Given the description of an element on the screen output the (x, y) to click on. 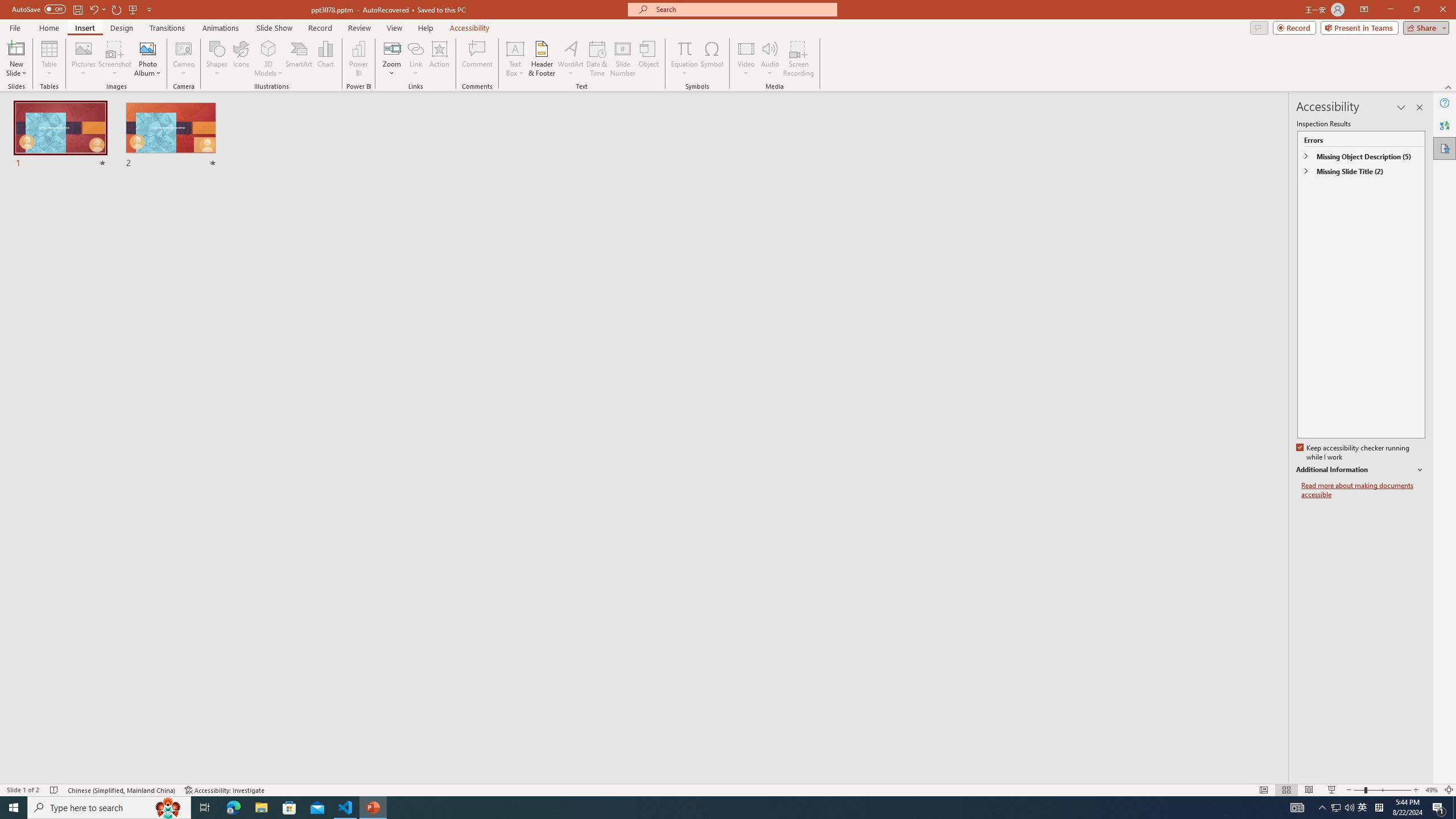
Link (415, 58)
Object... (649, 58)
Symbol... (711, 58)
Equation (683, 58)
Chart... (325, 58)
